Given the description of an element on the screen output the (x, y) to click on. 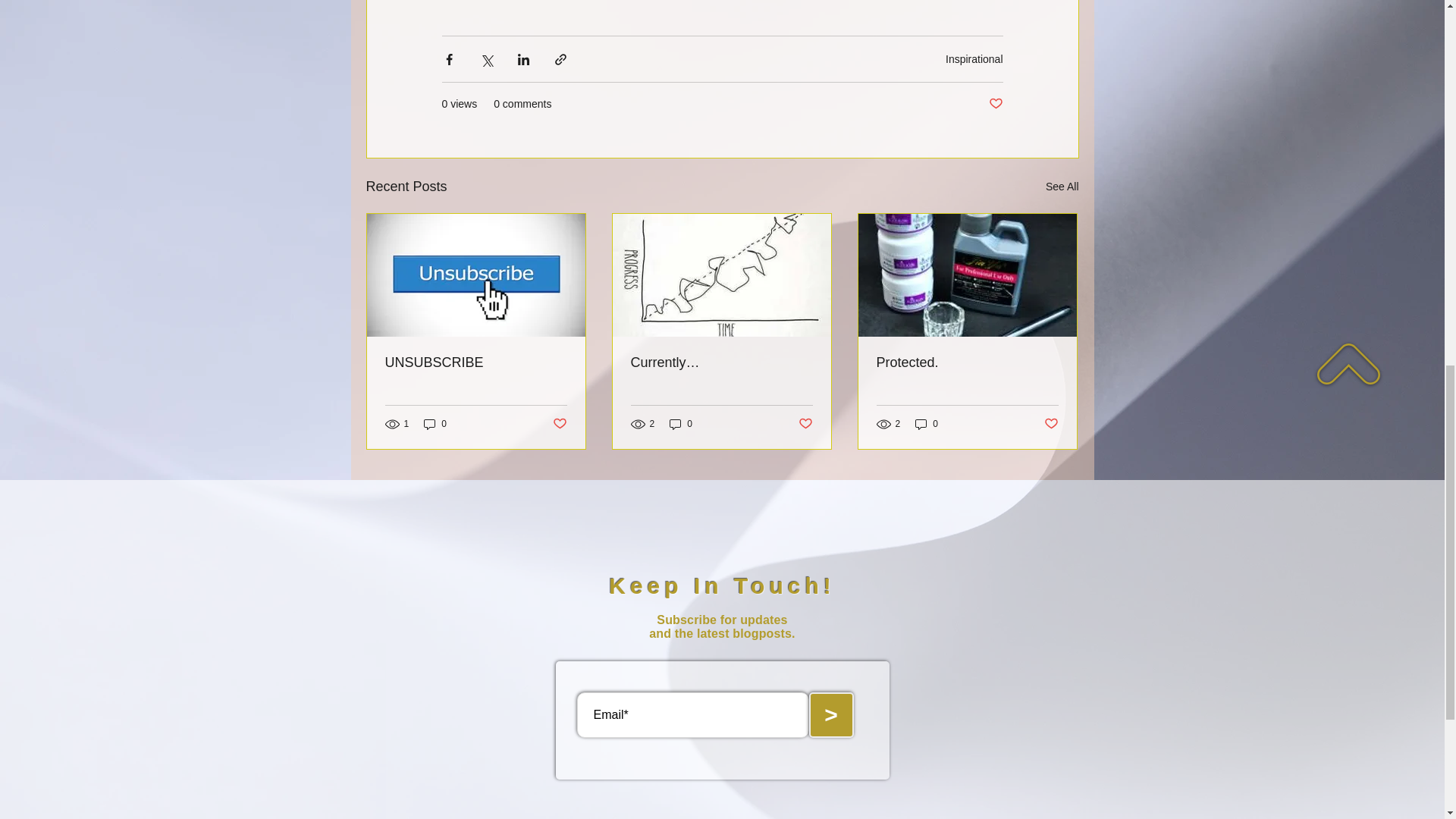
Inspirational (973, 59)
Post not marked as liked (558, 423)
See All (1061, 187)
Post not marked as liked (1050, 423)
0 (681, 423)
Post not marked as liked (995, 104)
Protected. (967, 362)
0 (435, 423)
0 (926, 423)
UNSUBSCRIBE (476, 362)
Post not marked as liked (804, 423)
